Given the description of an element on the screen output the (x, y) to click on. 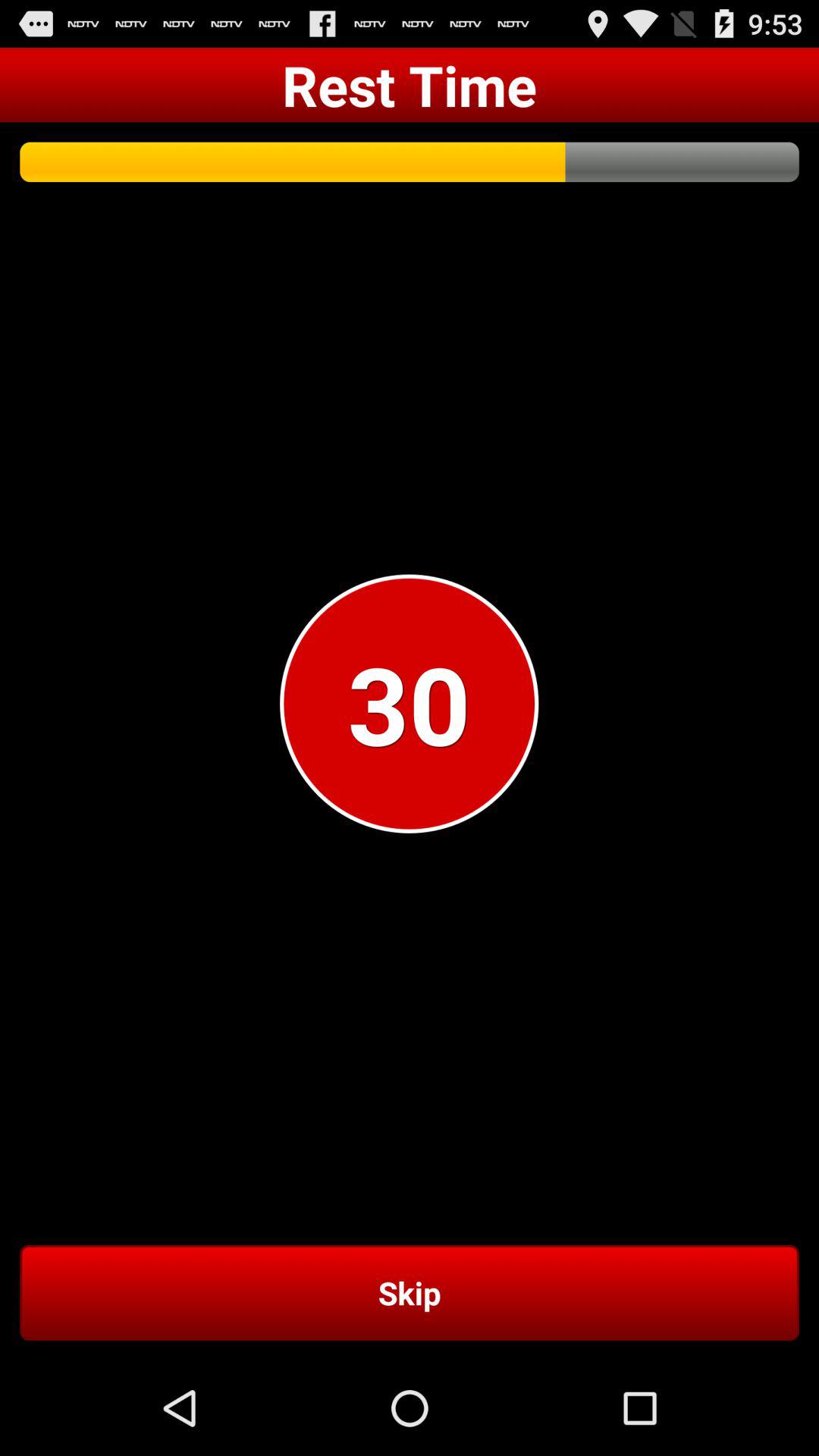
turn off item below 30 (409, 1292)
